Given the description of an element on the screen output the (x, y) to click on. 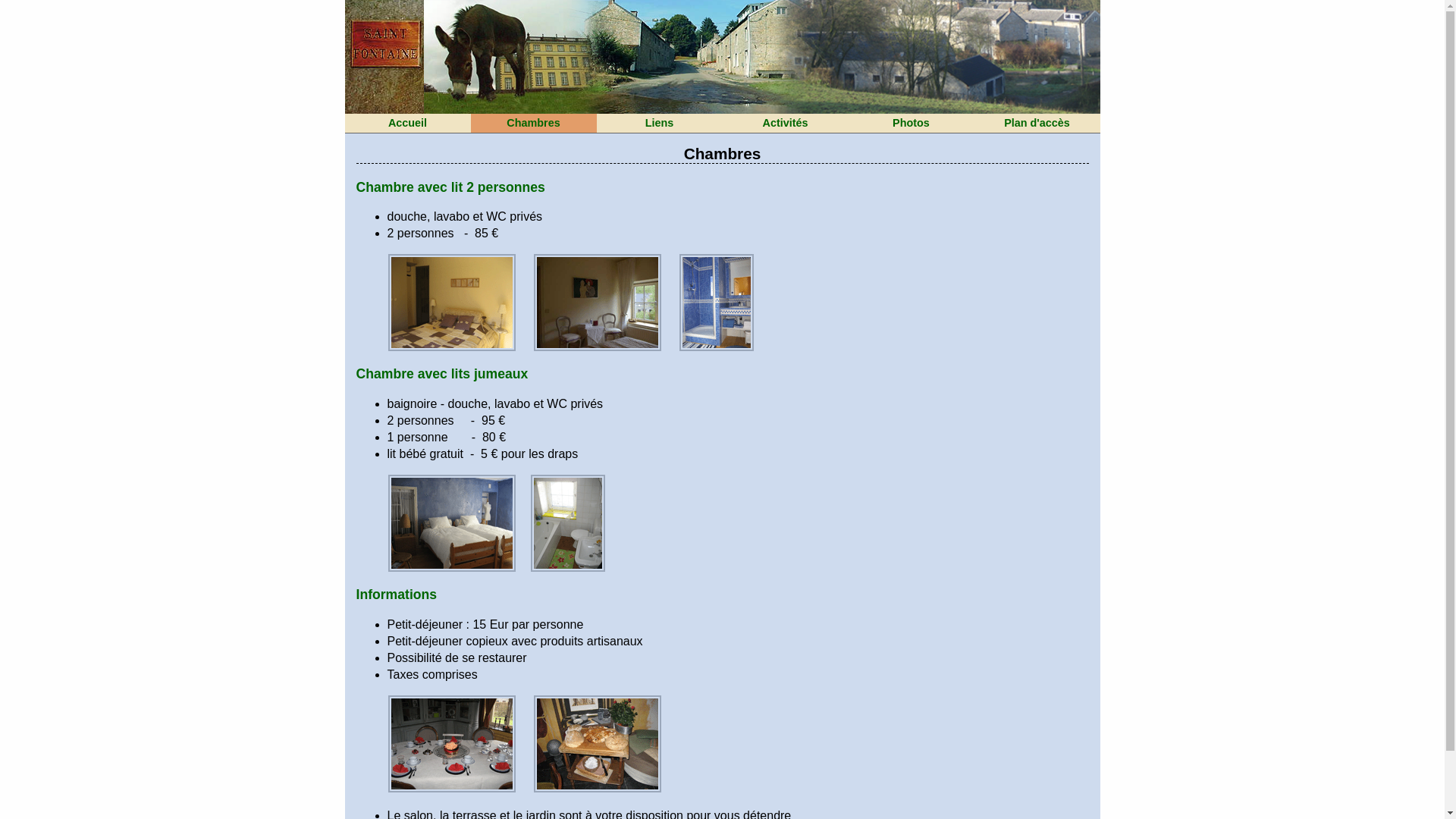
Liens Element type: text (658, 122)
Chambres Element type: text (533, 122)
Accueil Element type: text (407, 122)
Photos Element type: text (910, 122)
